Given the description of an element on the screen output the (x, y) to click on. 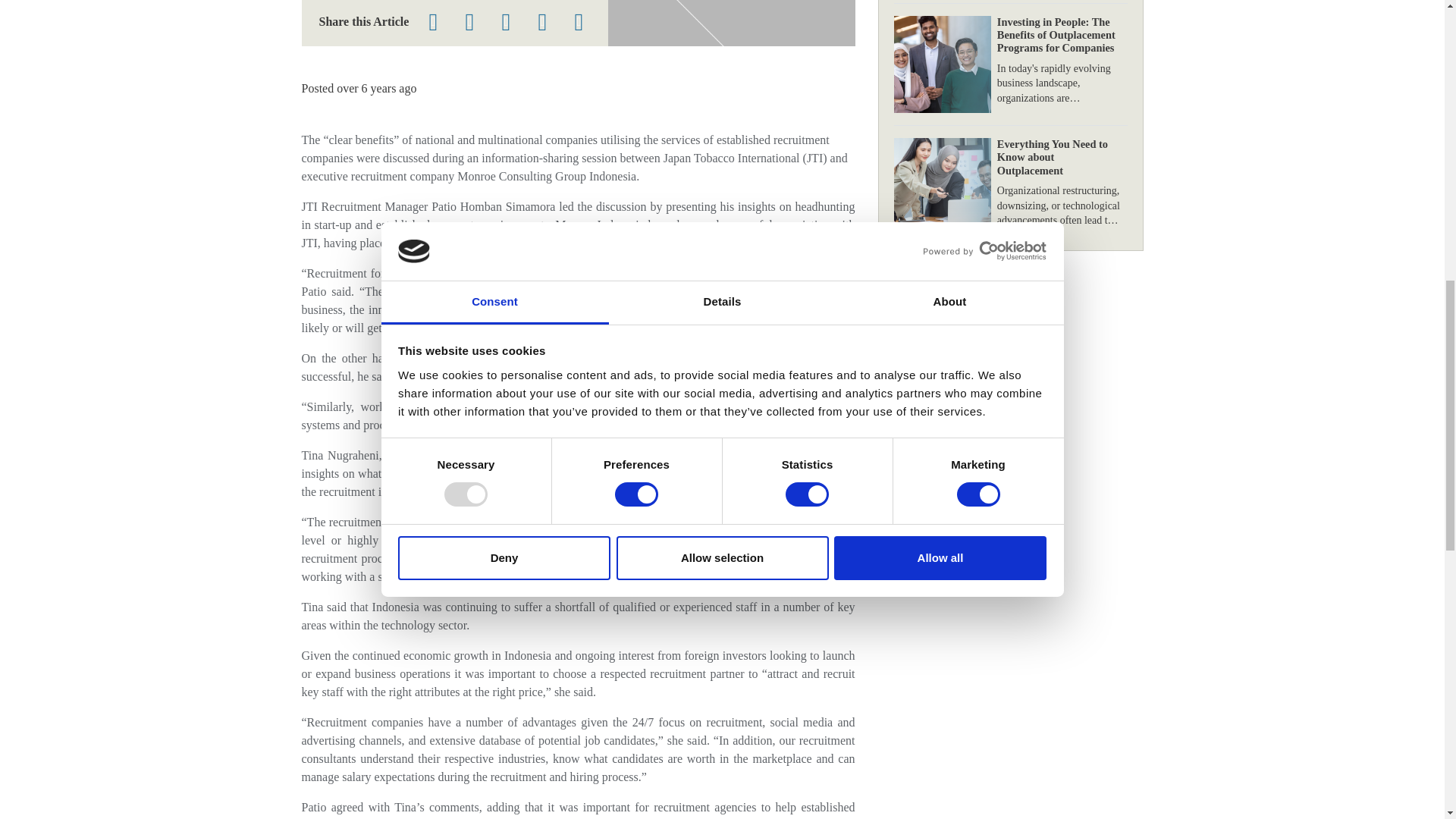
LinkedIn (505, 21)
Email (578, 21)
Facebook (469, 21)
WhatsApp (542, 21)
Twitter (432, 21)
